Given the description of an element on the screen output the (x, y) to click on. 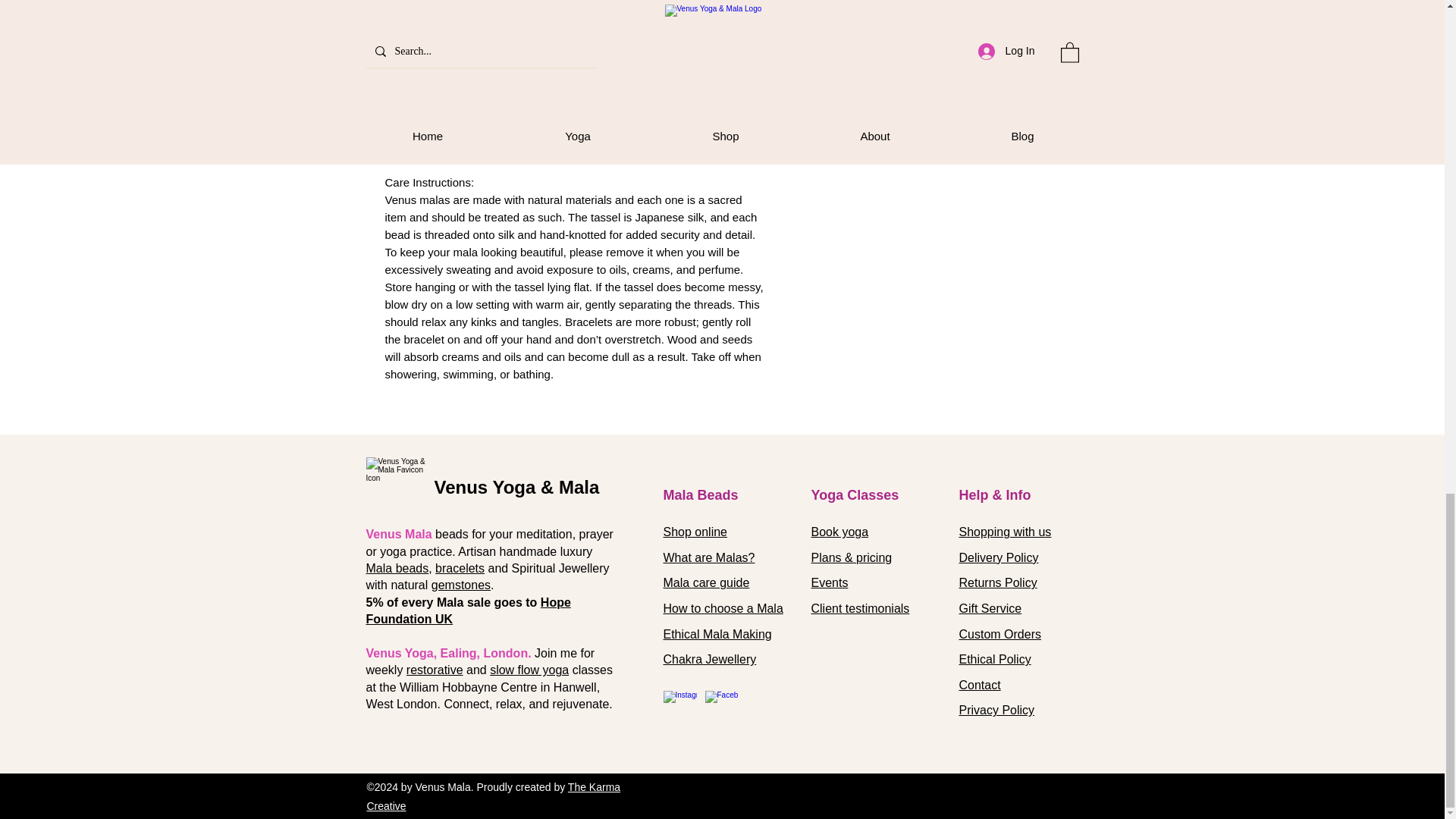
gemstones (460, 584)
Hope Foundation UK (467, 610)
What are Malas? (708, 557)
restorative (434, 669)
Mala beads (396, 567)
Mala care guide (705, 582)
Shop online (694, 531)
bracelets (459, 567)
slow flow yoga (529, 669)
